Given the description of an element on the screen output the (x, y) to click on. 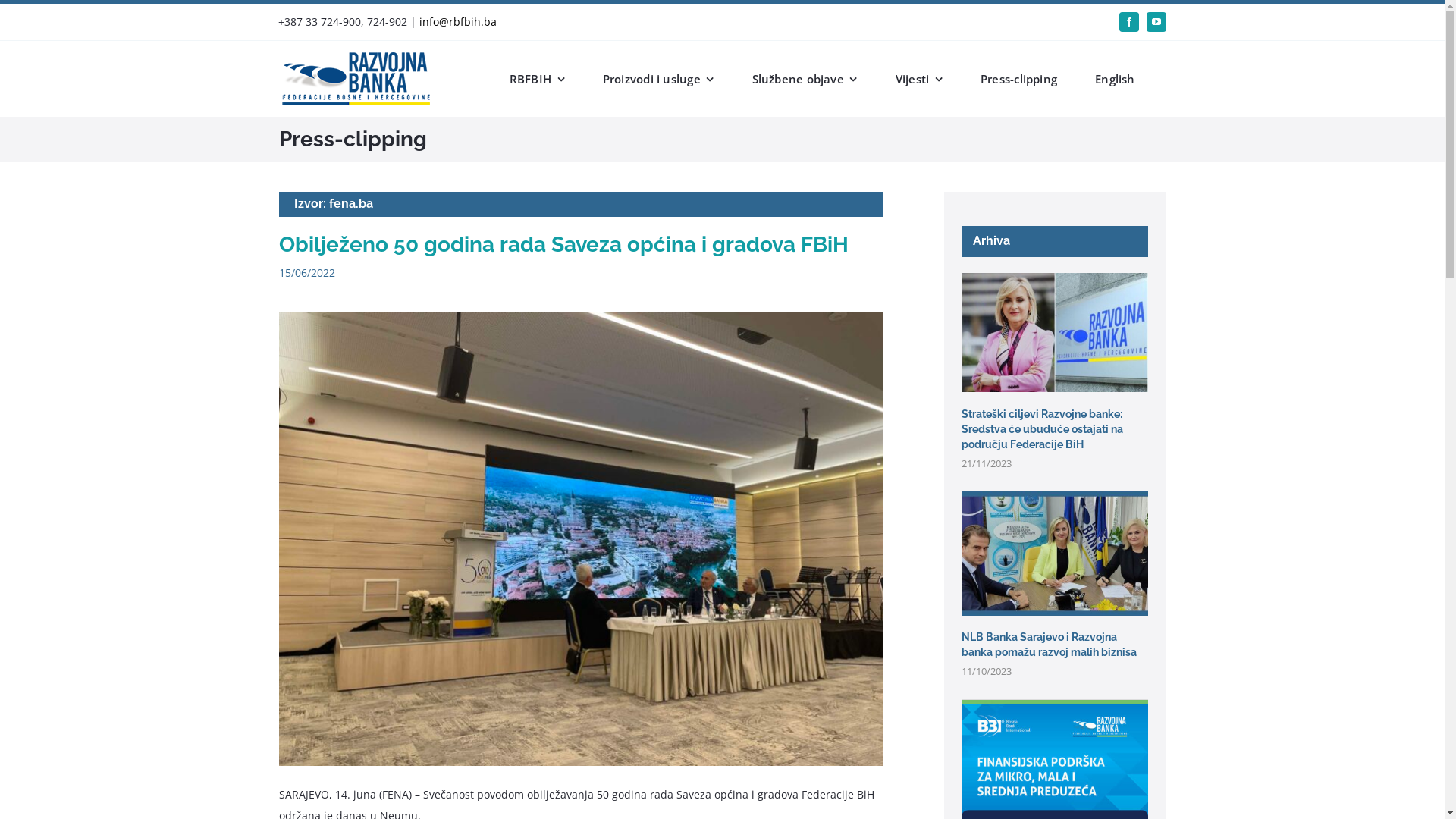
Press-clipping Element type: text (1018, 78)
Proizvodi i usluge Element type: text (658, 78)
Vijesti Element type: text (918, 78)
RBFBIH Element type: text (536, 78)
English Element type: text (1115, 78)
IMG-0952 Element type: hover (581, 538)
info@rbfbih.ba Element type: text (457, 21)
